Given the description of an element on the screen output the (x, y) to click on. 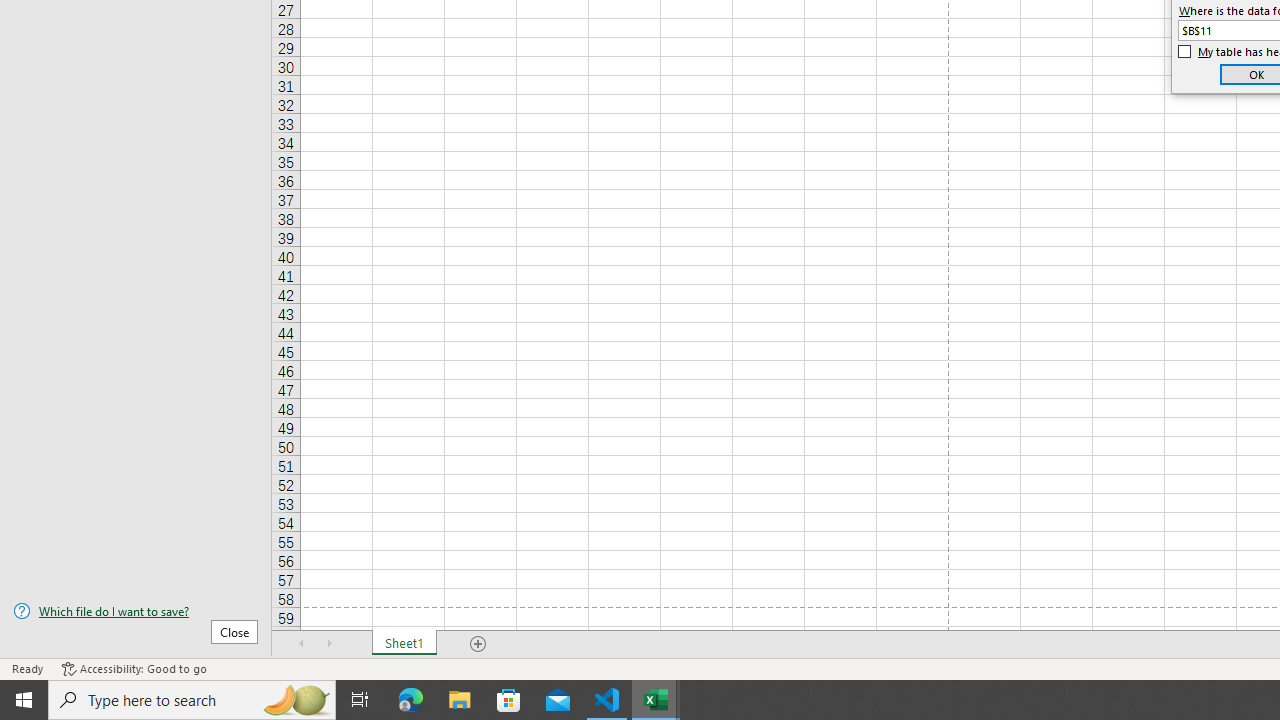
Which file do I want to save? (136, 611)
Close (234, 631)
Scroll Left (302, 644)
Add Sheet (478, 644)
Scroll Right (330, 644)
Accessibility Checker Accessibility: Good to go (134, 668)
Sheet1 (404, 644)
